Given the description of an element on the screen output the (x, y) to click on. 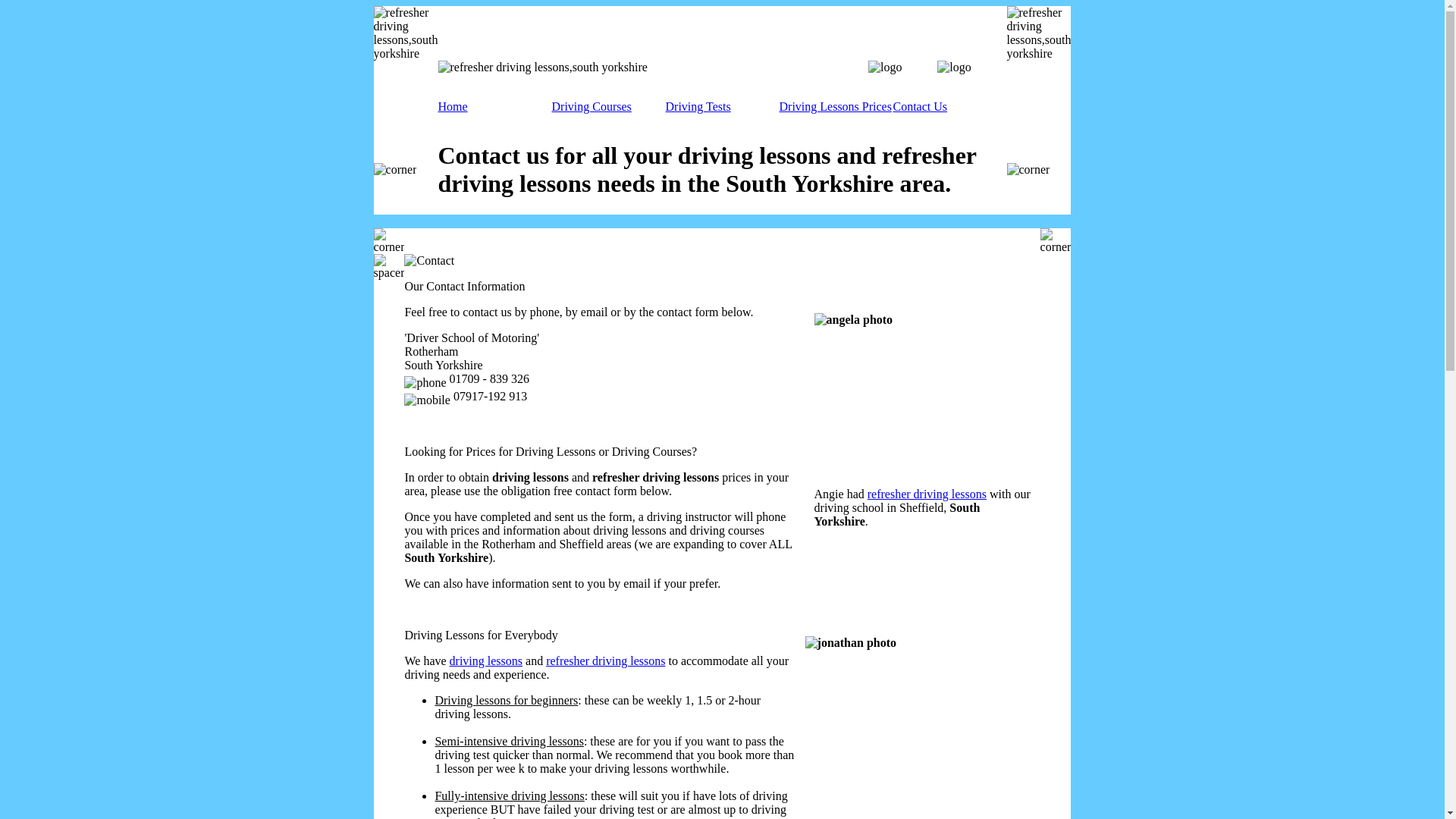
driving lessons (485, 660)
Home (452, 106)
Driving Tests (697, 106)
Driving Courses (591, 106)
refresher driving lessons (605, 660)
Contact Us (920, 106)
Driving Lessons Prices (834, 106)
refresher driving lessons (927, 493)
